Given the description of an element on the screen output the (x, y) to click on. 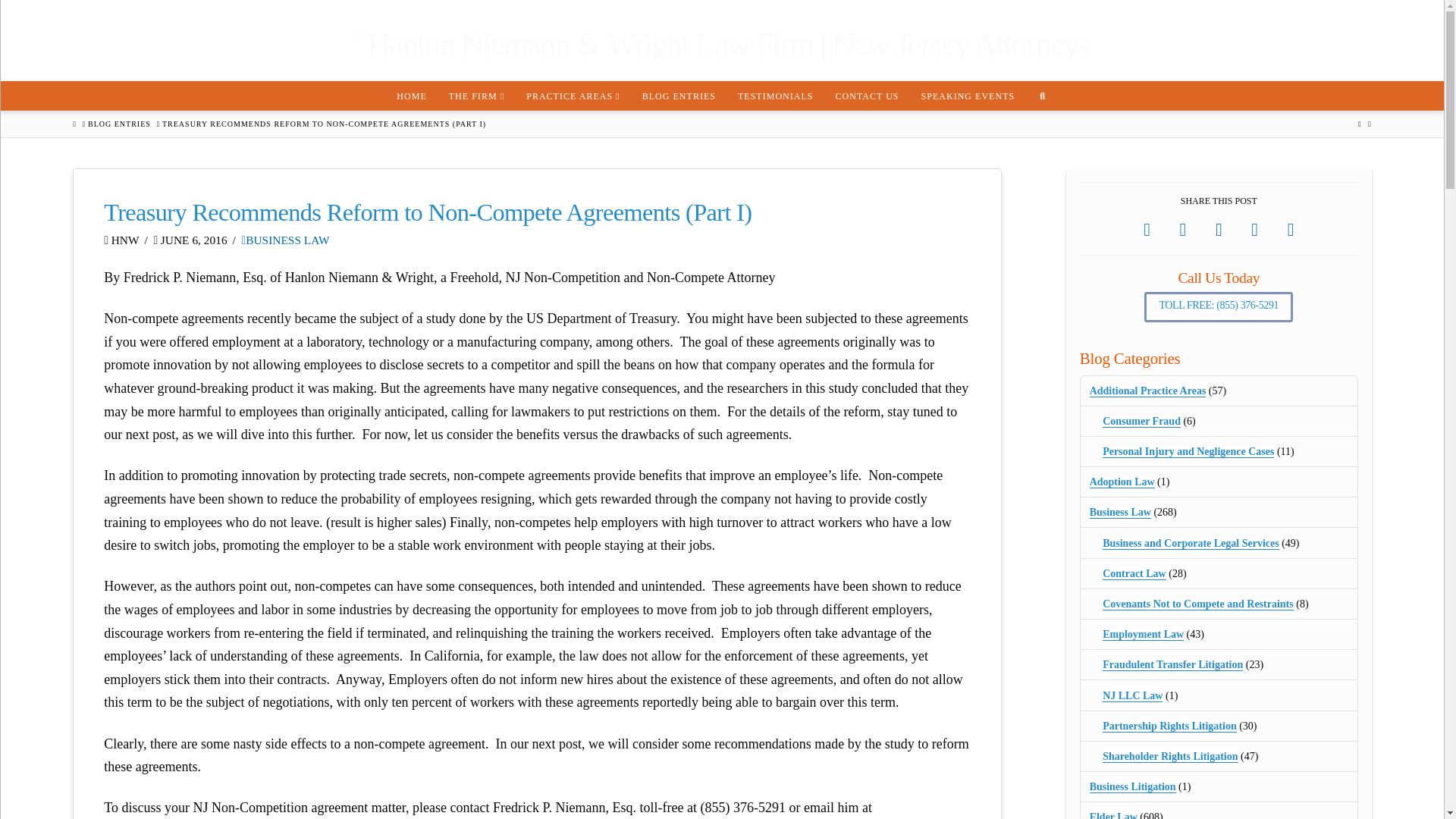
PRACTICE AREAS (572, 95)
Share via Email (1290, 229)
SPEAKING EVENTS (968, 95)
HOME (410, 95)
Share on Facebook (1146, 229)
Share on Twitter (1182, 229)
CONTACT US (867, 95)
Share on Pinterest (1254, 229)
You Are Here (323, 123)
THE FIRM (476, 95)
BLOG ENTRIES (678, 95)
Share on LinkedIn (1219, 229)
TESTIMONIALS (775, 95)
